Given the description of an element on the screen output the (x, y) to click on. 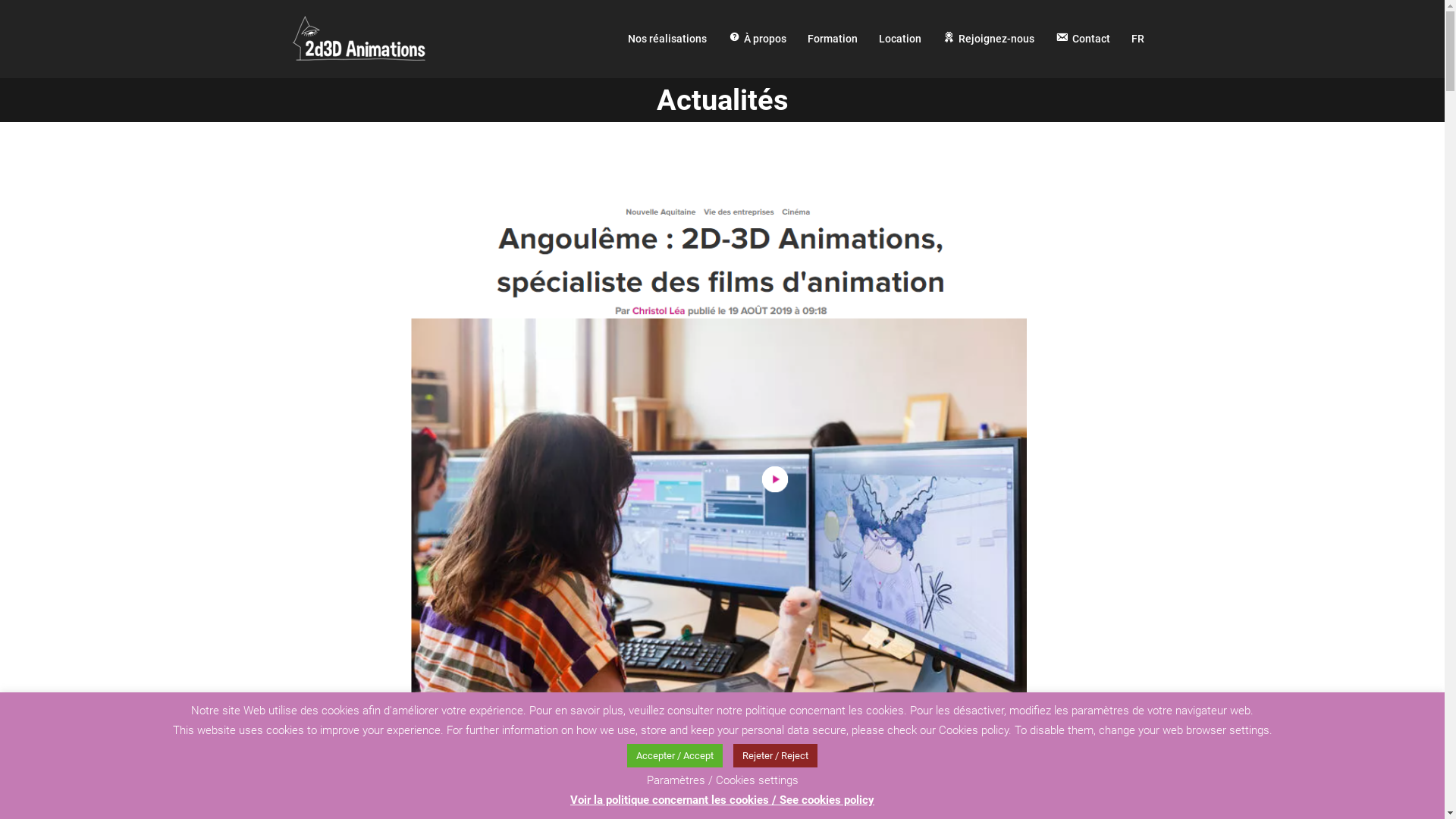
Location Element type: text (899, 39)
Rejoignez-nous Element type: text (988, 39)
Accepter / Accept Element type: text (674, 755)
2d3D Animations Element type: hover (358, 38)
FR Element type: text (1137, 39)
Contact Element type: text (1082, 39)
Rejeter / Reject Element type: text (775, 755)
Formation Element type: text (832, 39)
